Given the description of an element on the screen output the (x, y) to click on. 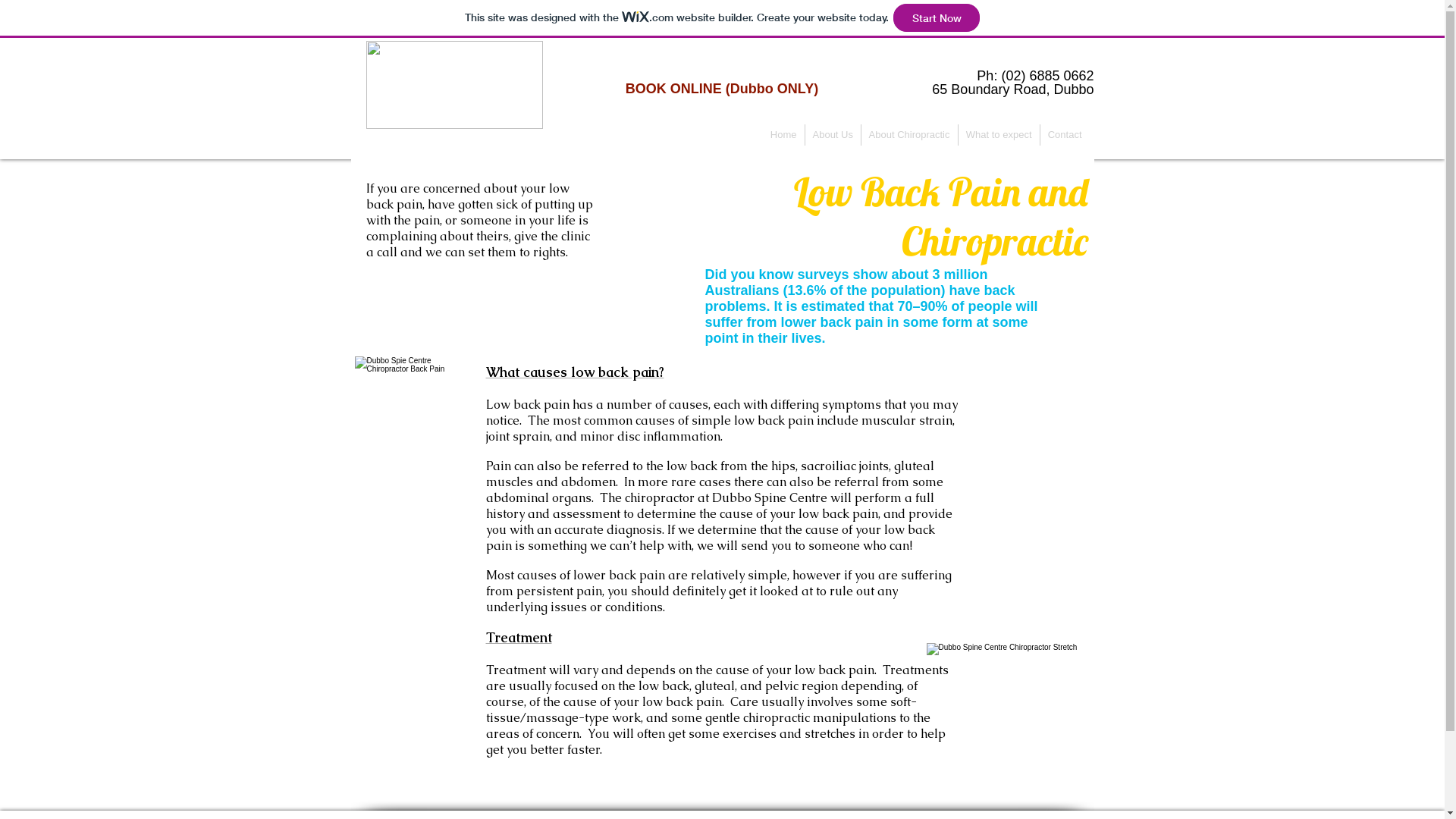
Contact Element type: text (1064, 134)
BOOK ONLINE (Dubbo ONLY) Element type: text (721, 89)
Dubbo Spine Centre Logo RGB.jpg Element type: hover (453, 84)
Home Element type: text (783, 134)
